Given the description of an element on the screen output the (x, y) to click on. 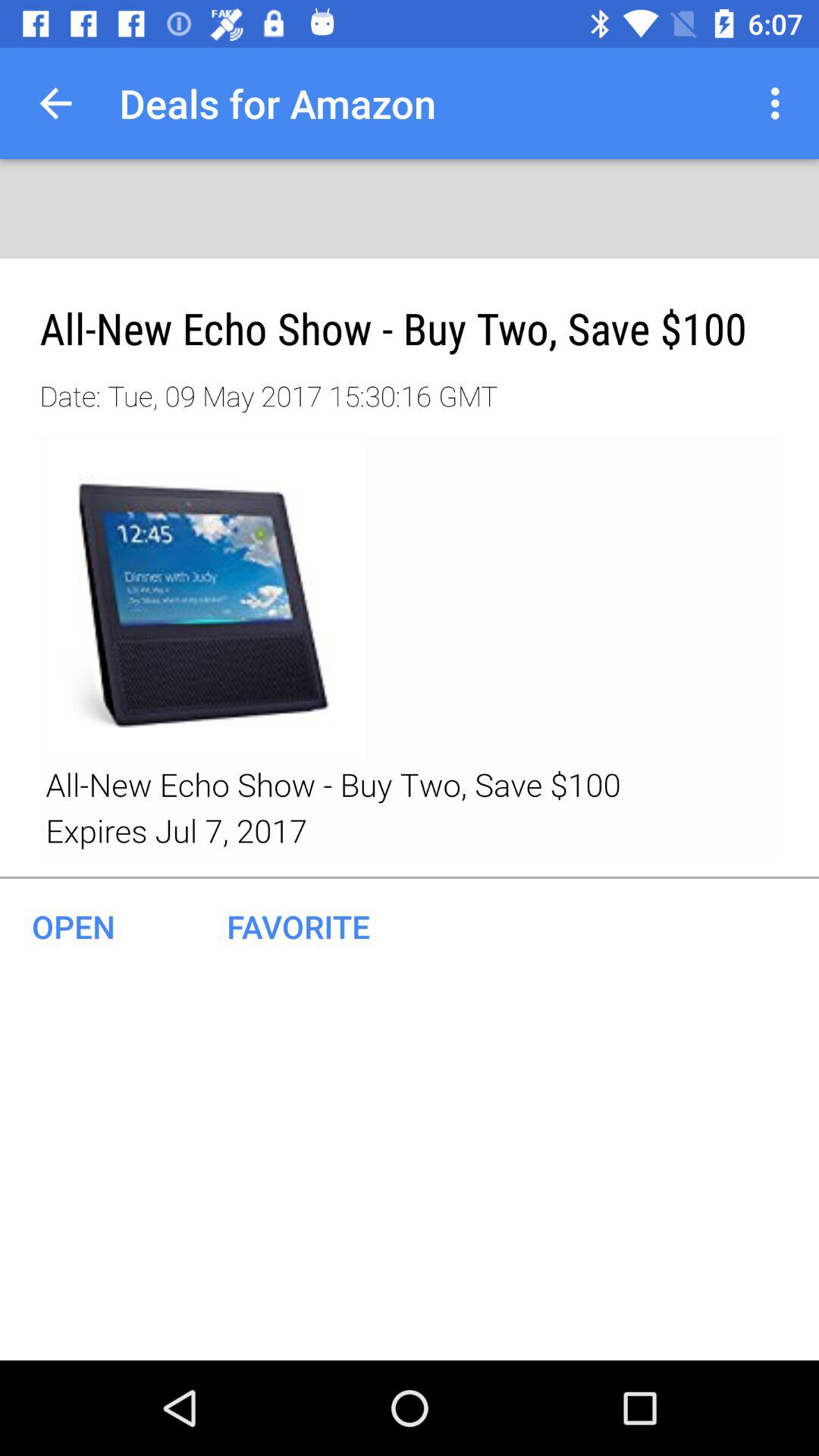
go to product details (409, 645)
